Given the description of an element on the screen output the (x, y) to click on. 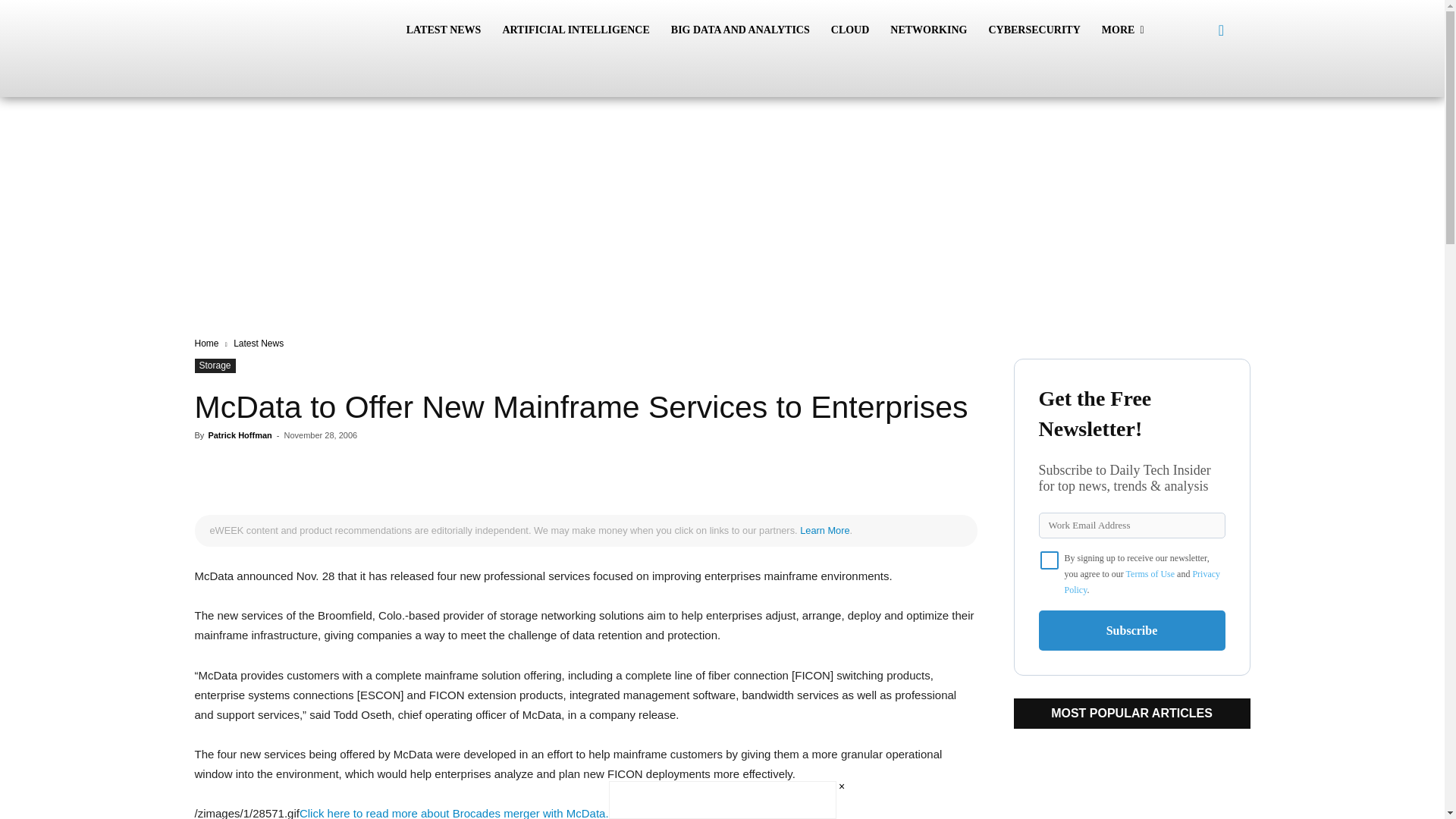
NETWORKING (927, 30)
on (1049, 560)
ARTIFICIAL INTELLIGENCE (575, 30)
LATEST NEWS (444, 30)
CLOUD (850, 30)
BIG DATA AND ANALYTICS (741, 30)
CYBERSECURITY (1033, 30)
